Given the description of an element on the screen output the (x, y) to click on. 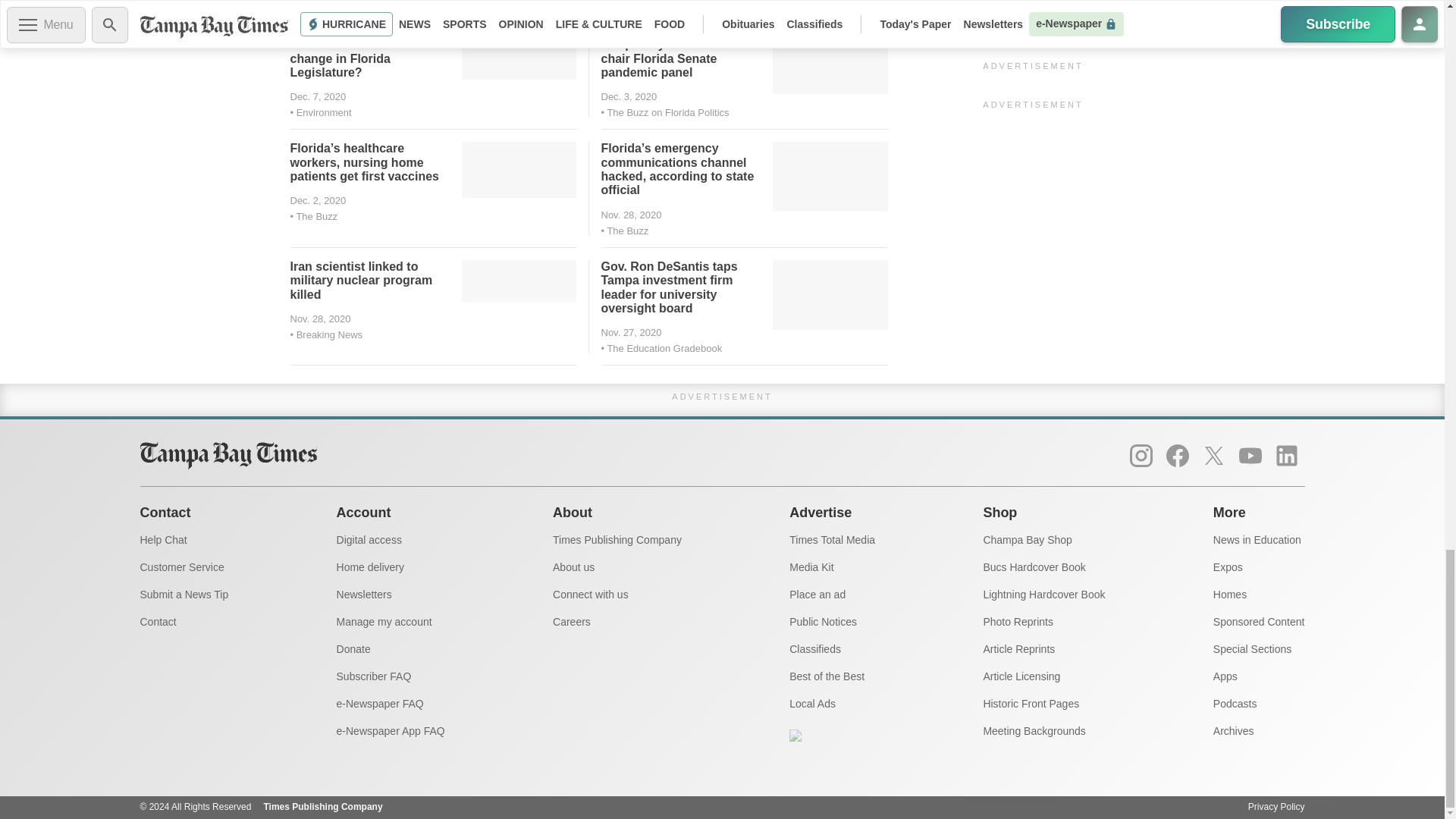
2020-12-02T21:55:29.436Z (627, 96)
2020-11-27T17:01:19.031Z (319, 318)
2020-12-02T00:16:19.878Z (317, 200)
2020-12-07T10:00:00Z (317, 96)
2020-11-27T18:47:56.242Z (630, 214)
